Given the description of an element on the screen output the (x, y) to click on. 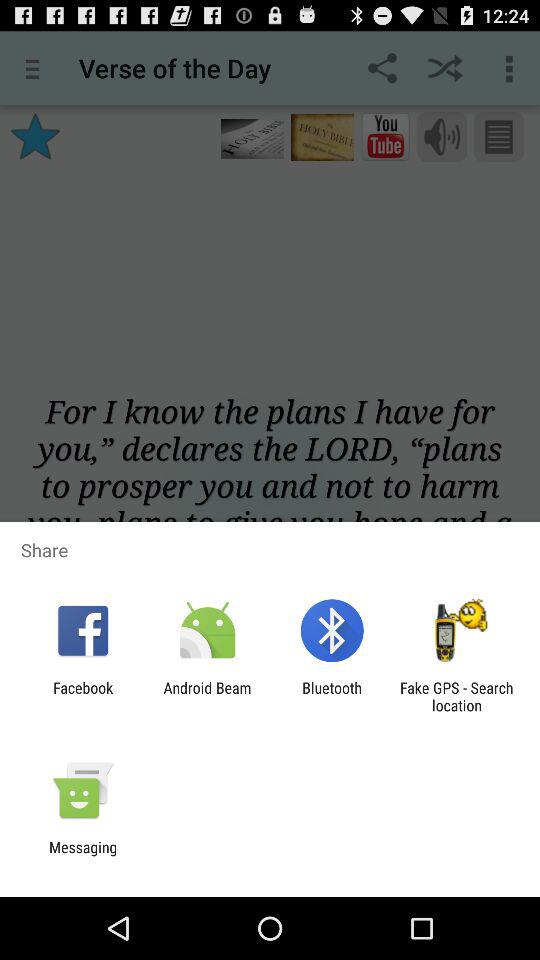
launch the bluetooth icon (331, 696)
